Given the description of an element on the screen output the (x, y) to click on. 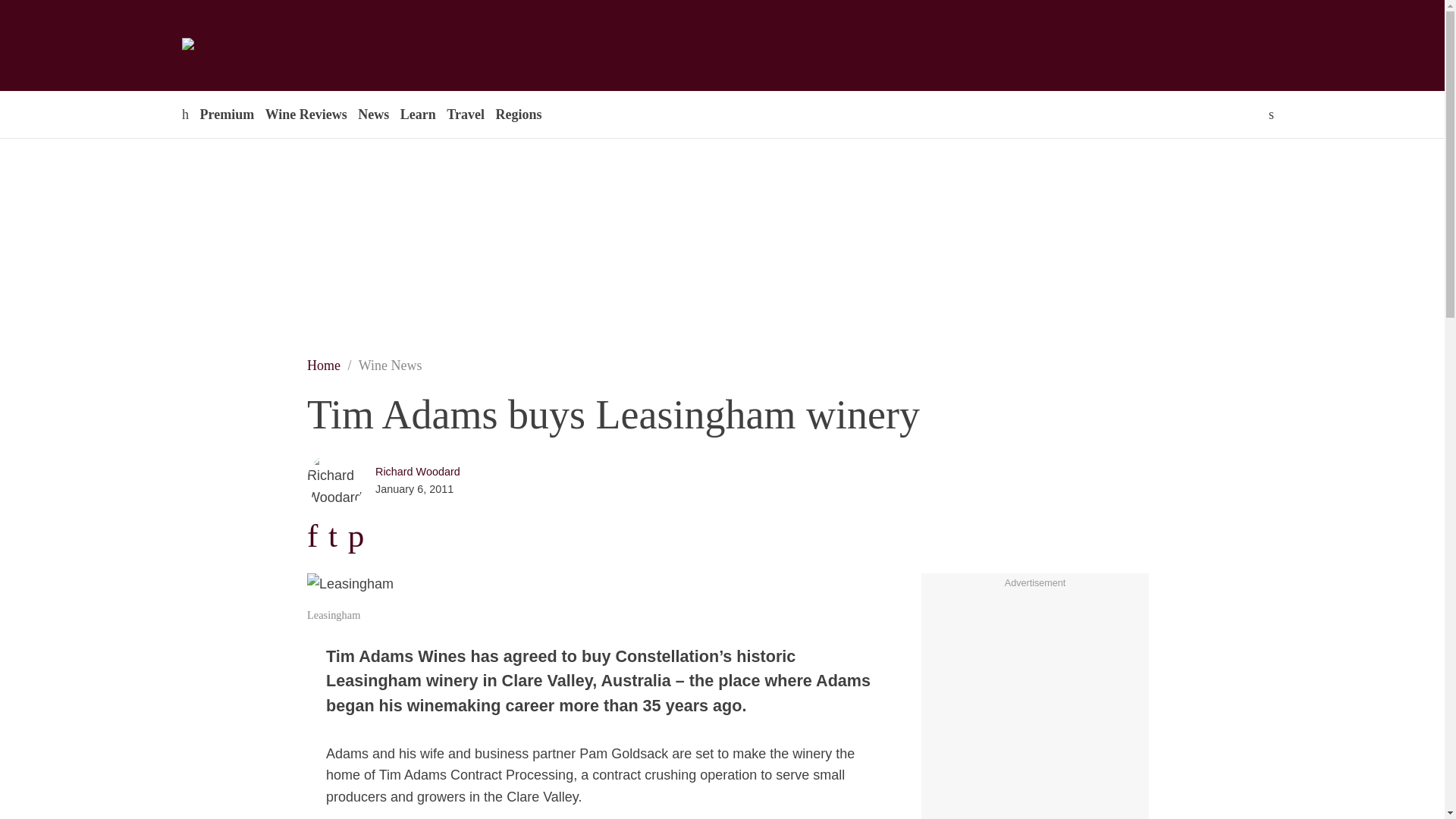
Learn (417, 114)
Decanter (297, 45)
Travel (464, 114)
Wine Reviews (306, 114)
Premium (226, 114)
